Given the description of an element on the screen output the (x, y) to click on. 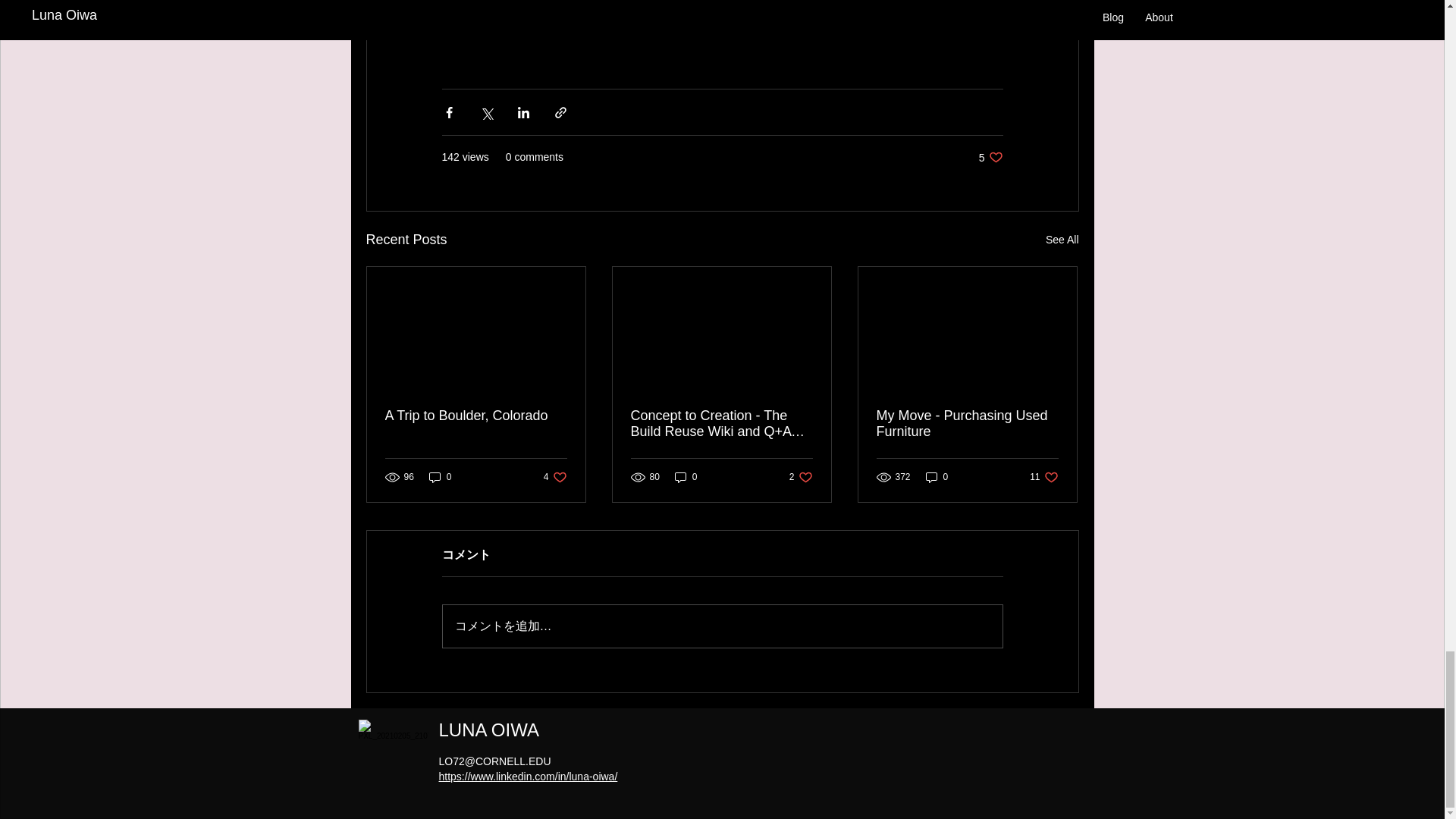
0 (937, 477)
0 (990, 156)
See All (800, 477)
A Trip to Boulder, Colorado (440, 477)
My Move - Purchasing Used Furniture (555, 477)
0 (1061, 239)
